Given the description of an element on the screen output the (x, y) to click on. 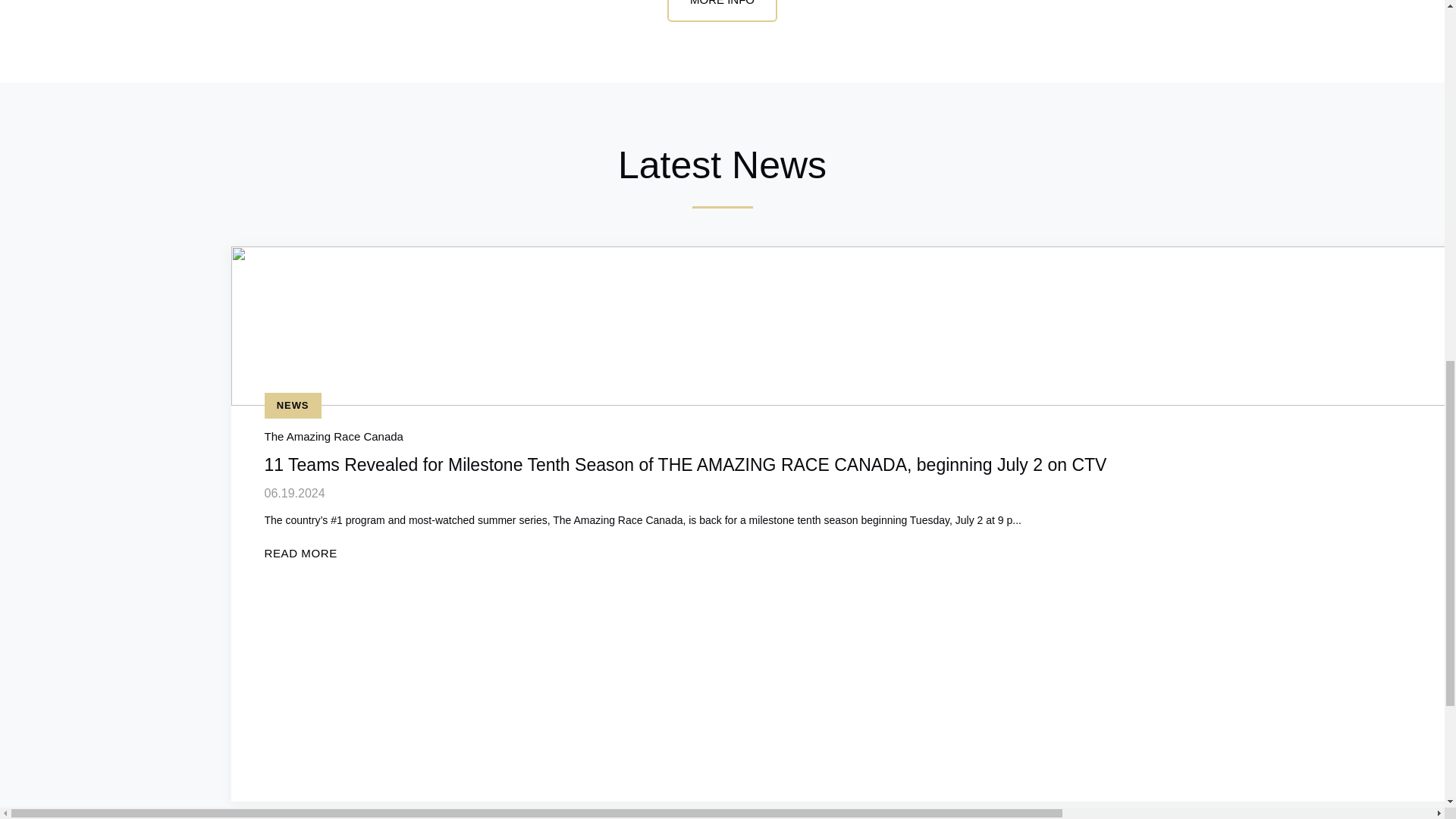
NEWS (291, 405)
The Amazing Race Canada (333, 436)
